Given the description of an element on the screen output the (x, y) to click on. 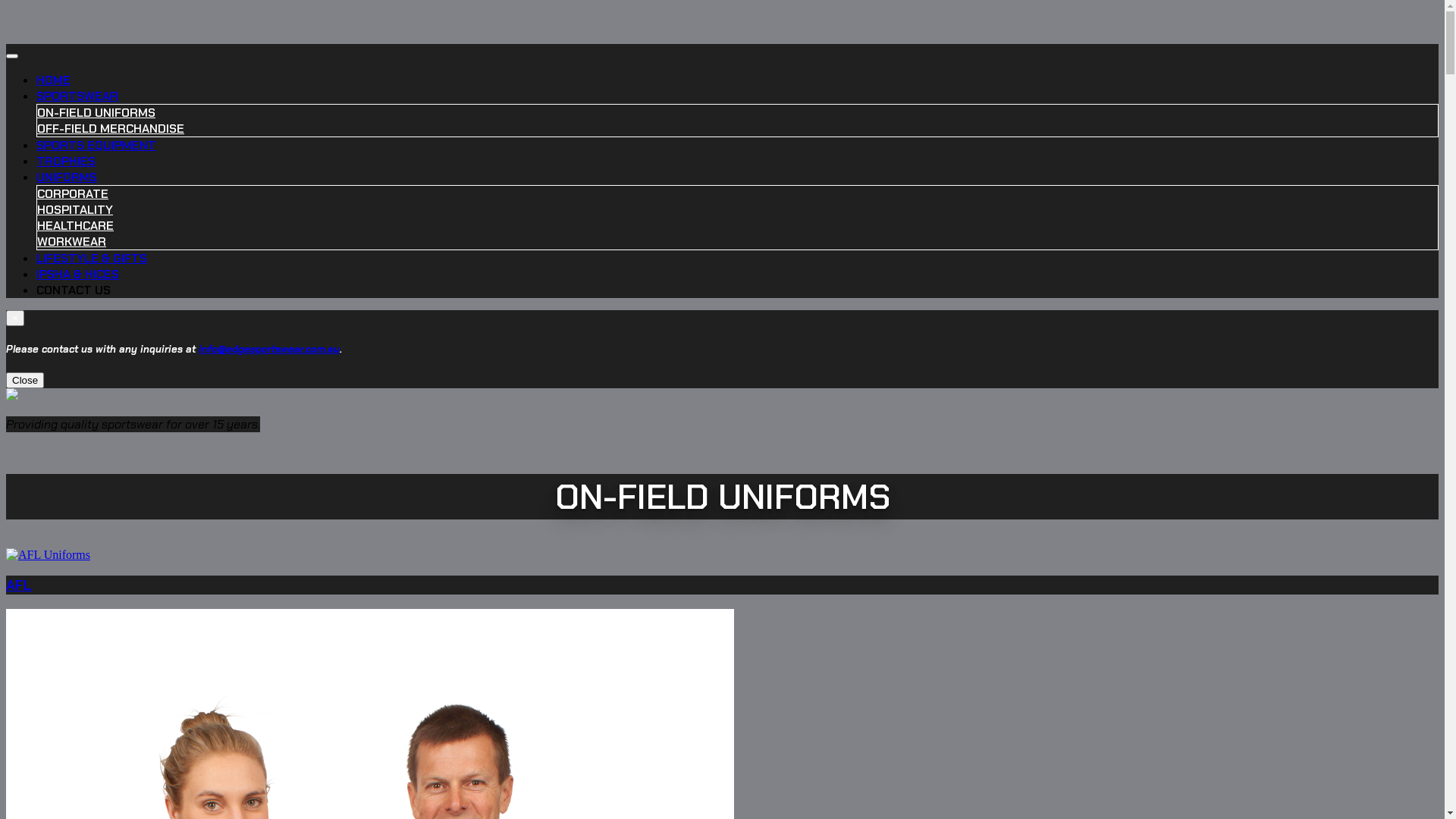
OFF-FIELD MERCHANDISE Element type: text (110, 128)
WORKWEAR Element type: text (71, 241)
LIFESTYLE & GIFTS Element type: text (91, 258)
AFL Element type: text (722, 571)
Close Element type: text (24, 380)
TROPHIES Element type: text (65, 161)
UNIFORMS Element type: text (66, 177)
info@edgesportswear.com.au Element type: text (268, 348)
CONTACT US Element type: text (73, 290)
HOSPITALITY Element type: text (74, 209)
SPORTS EQUIPMENT Element type: text (96, 145)
SPORTSWEAR Element type: text (77, 95)
IPSHA & HICES Element type: text (77, 274)
CORPORATE Element type: text (72, 193)
ON-FIELD UNIFORMS Element type: text (96, 112)
HOME Element type: text (53, 79)
HEALTHCARE Element type: text (75, 225)
